Given the description of an element on the screen output the (x, y) to click on. 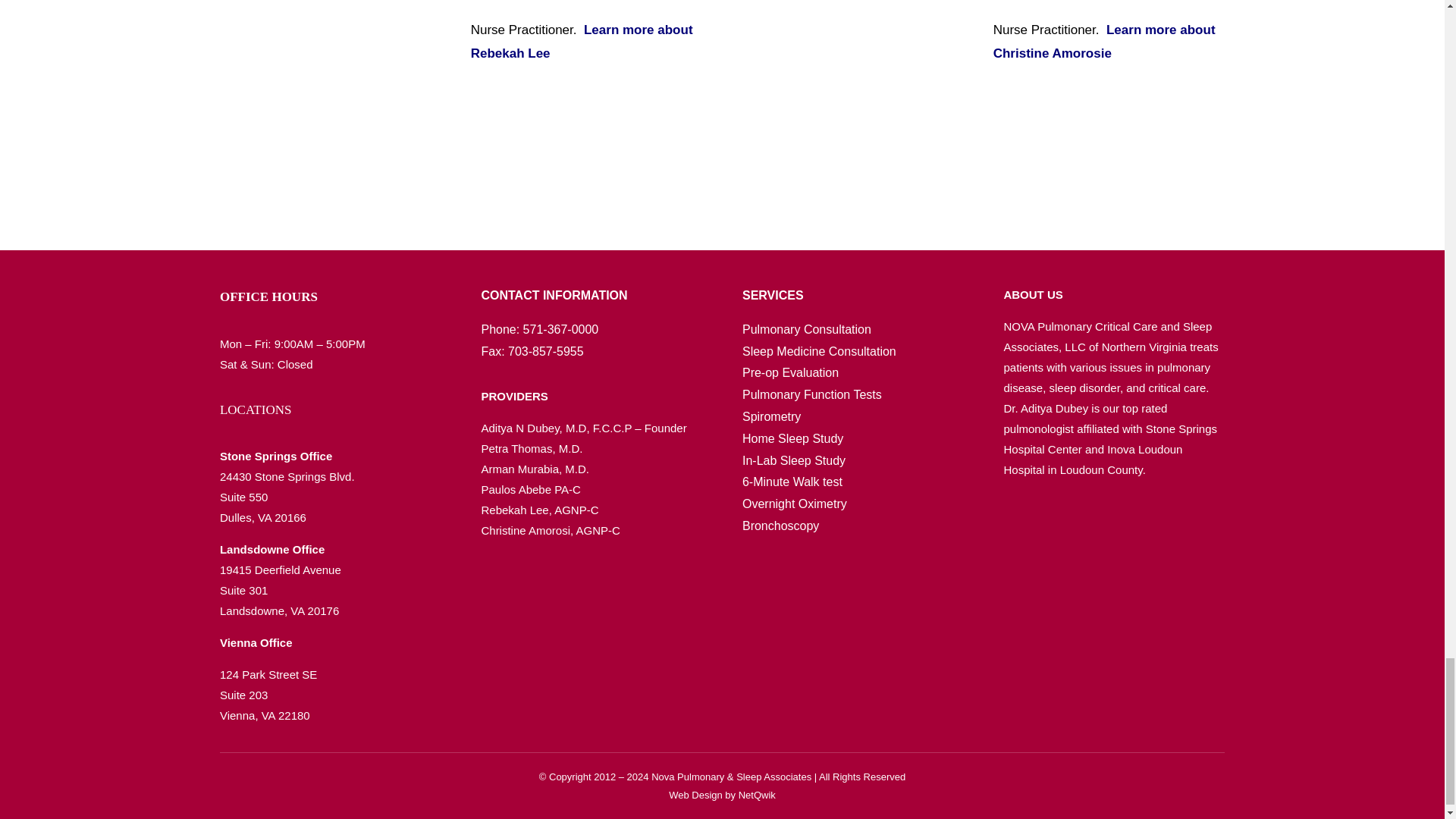
Spirometry (771, 416)
Rebekah B. Lee, AGNP-C (332, 72)
Christine Amorosi (855, 72)
In-Lab Sleep Study (793, 460)
